Given the description of an element on the screen output the (x, y) to click on. 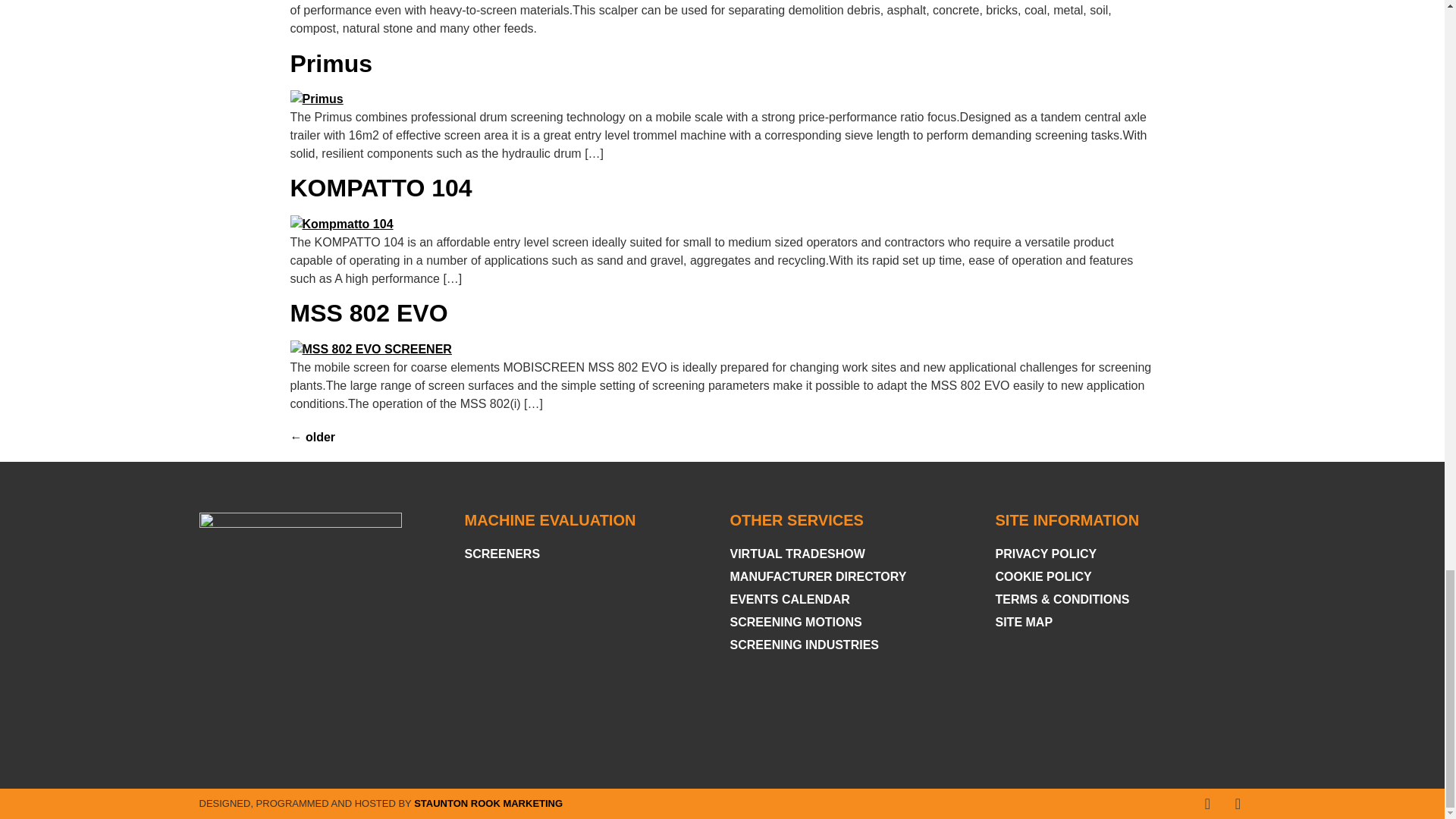
MSS 802 EVO (367, 312)
Primus (330, 62)
KOMPATTO 104 (380, 187)
